Given the description of an element on the screen output the (x, y) to click on. 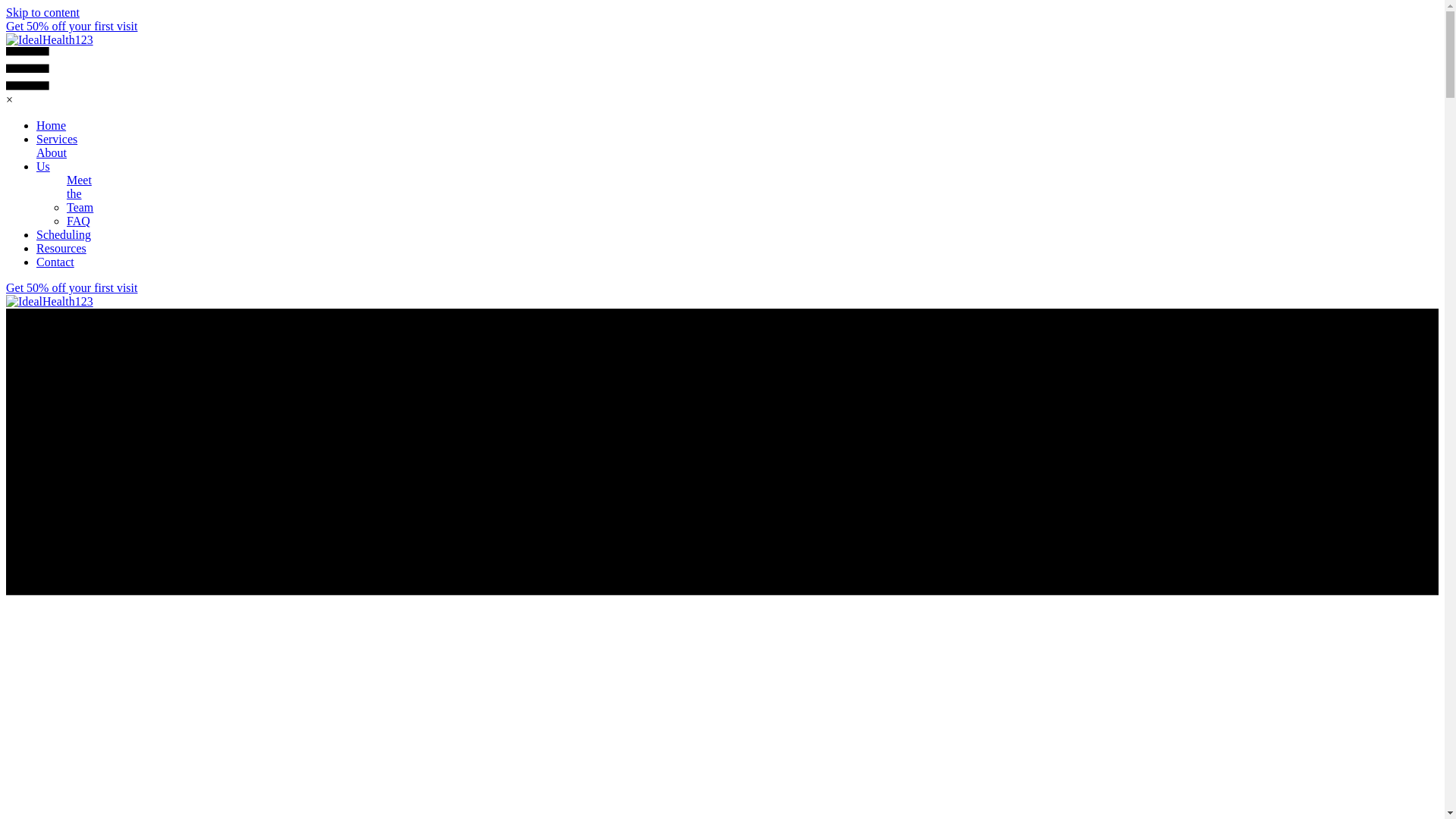
Home (50, 125)
FAQ (78, 221)
Contact (55, 262)
Scheduling (63, 234)
IdealHealth123 (49, 301)
IdealHealth123 (49, 39)
Services (56, 139)
Skip to content (42, 11)
Resources (60, 248)
About Us (51, 159)
Meet the Team (79, 193)
